Given the description of an element on the screen output the (x, y) to click on. 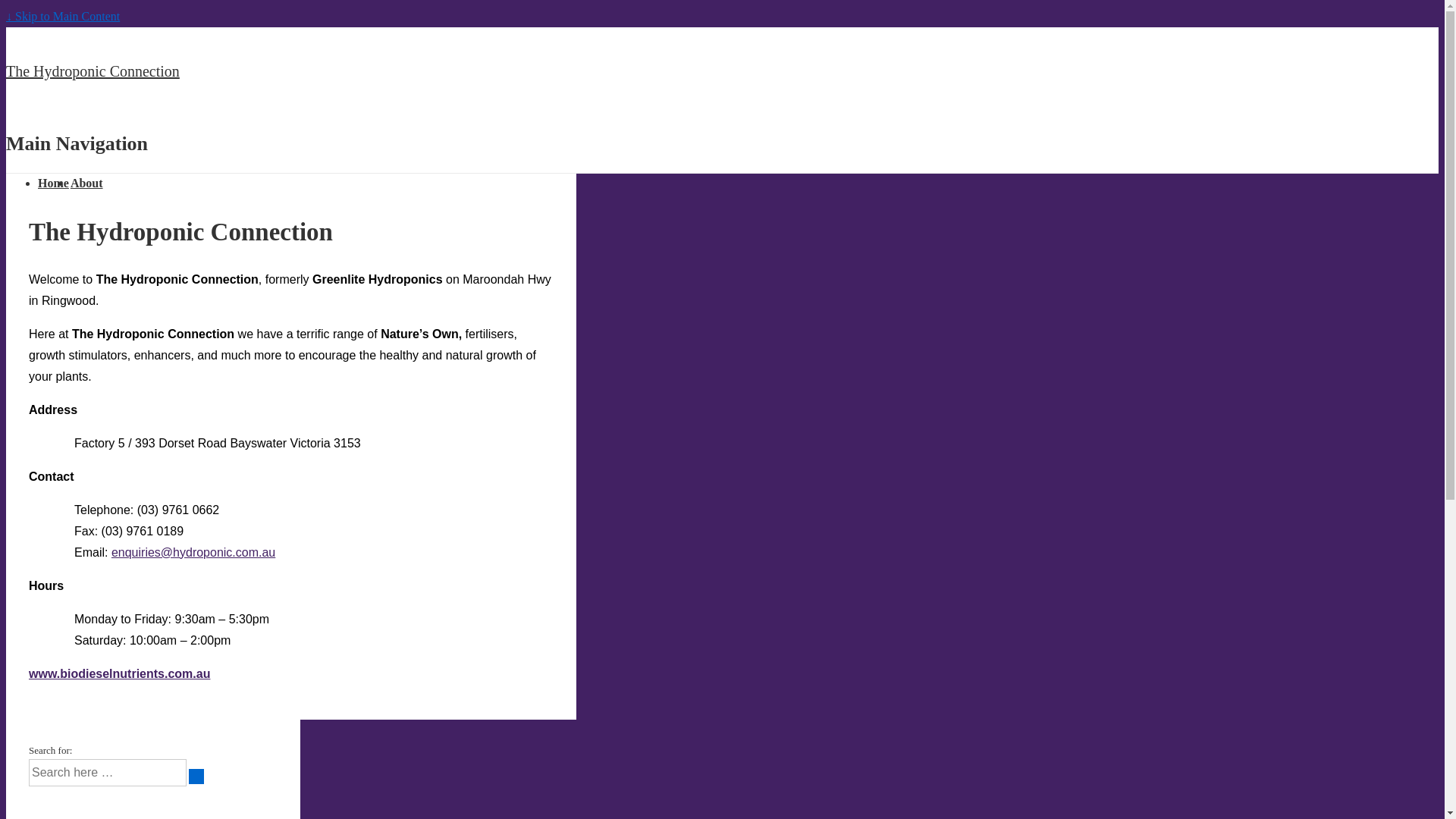
About Element type: text (86, 182)
Search Element type: text (195, 776)
enquiries@hydroponic.com.au Element type: text (193, 552)
Home Element type: text (53, 182)
www.biodieselnutrients.com.au Element type: text (119, 673)
The Hydroponic Connection Element type: text (92, 70)
